Given the description of an element on the screen output the (x, y) to click on. 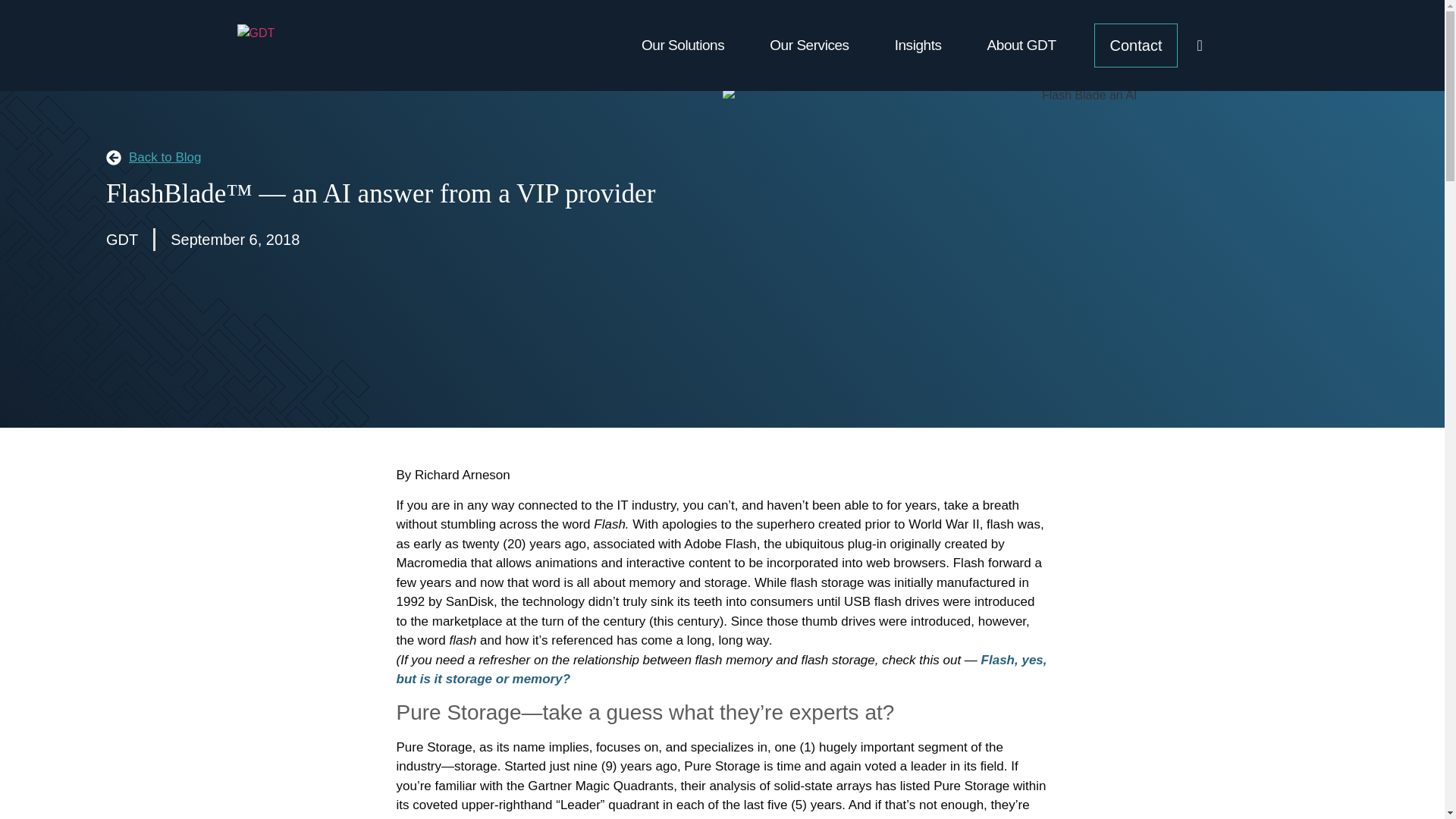
About GDT (1021, 45)
Our Solutions (682, 45)
Our Services (808, 45)
Insights (917, 45)
